Given the description of an element on the screen output the (x, y) to click on. 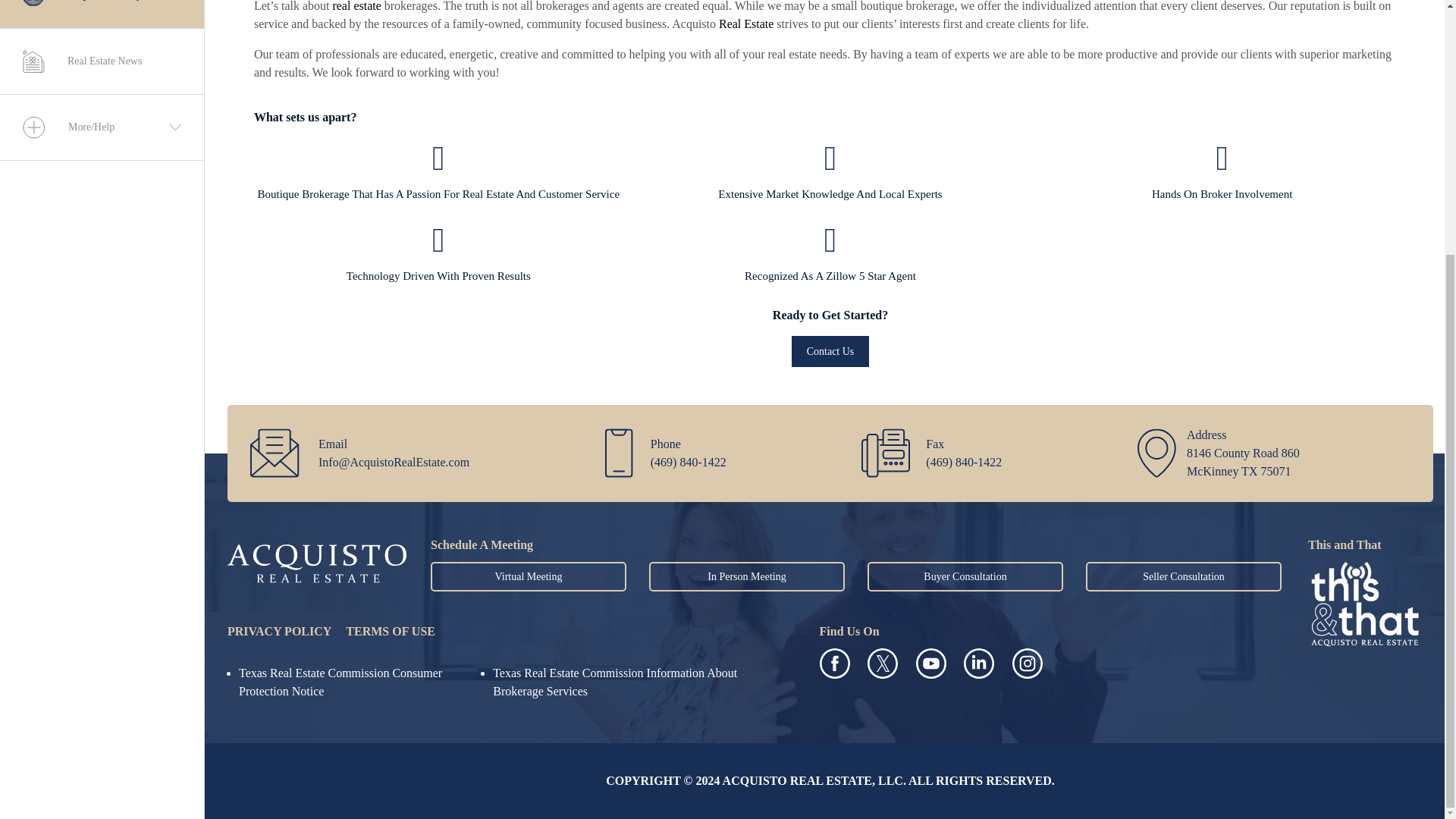
Texas Real Estate Commission Consumer Protection Notice (340, 681)
Real Estate (746, 23)
